Given the description of an element on the screen output the (x, y) to click on. 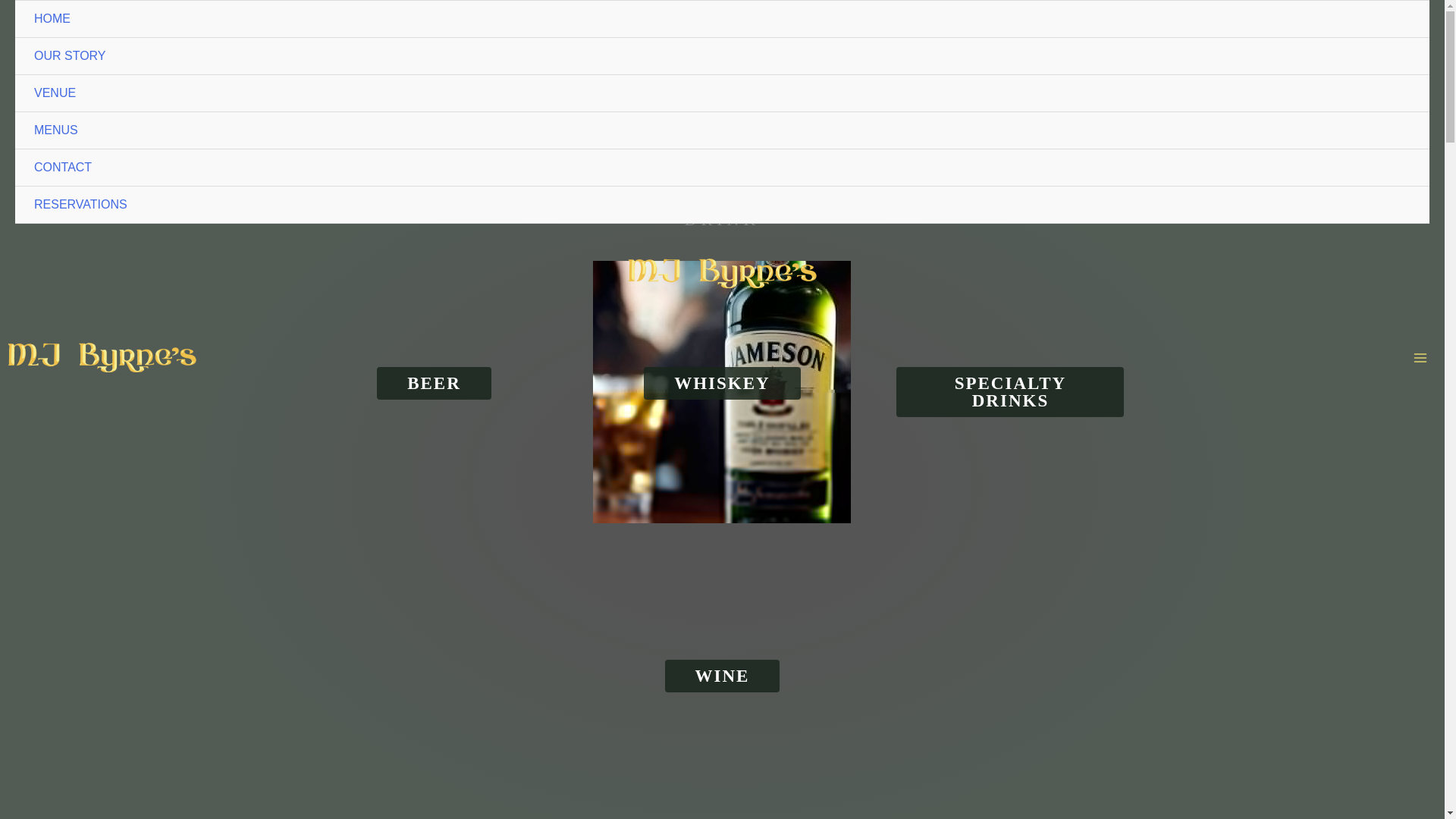
RESERVATIONS (721, 204)
MENUS (721, 130)
WHISKEY (721, 382)
OUR STORY (721, 56)
Main Menu (1420, 357)
HOME (721, 18)
WINE (722, 676)
BEER (434, 382)
CONTACT (721, 167)
VENUE (721, 93)
SPECIALTY DRINKS (1010, 391)
